Given the description of an element on the screen output the (x, y) to click on. 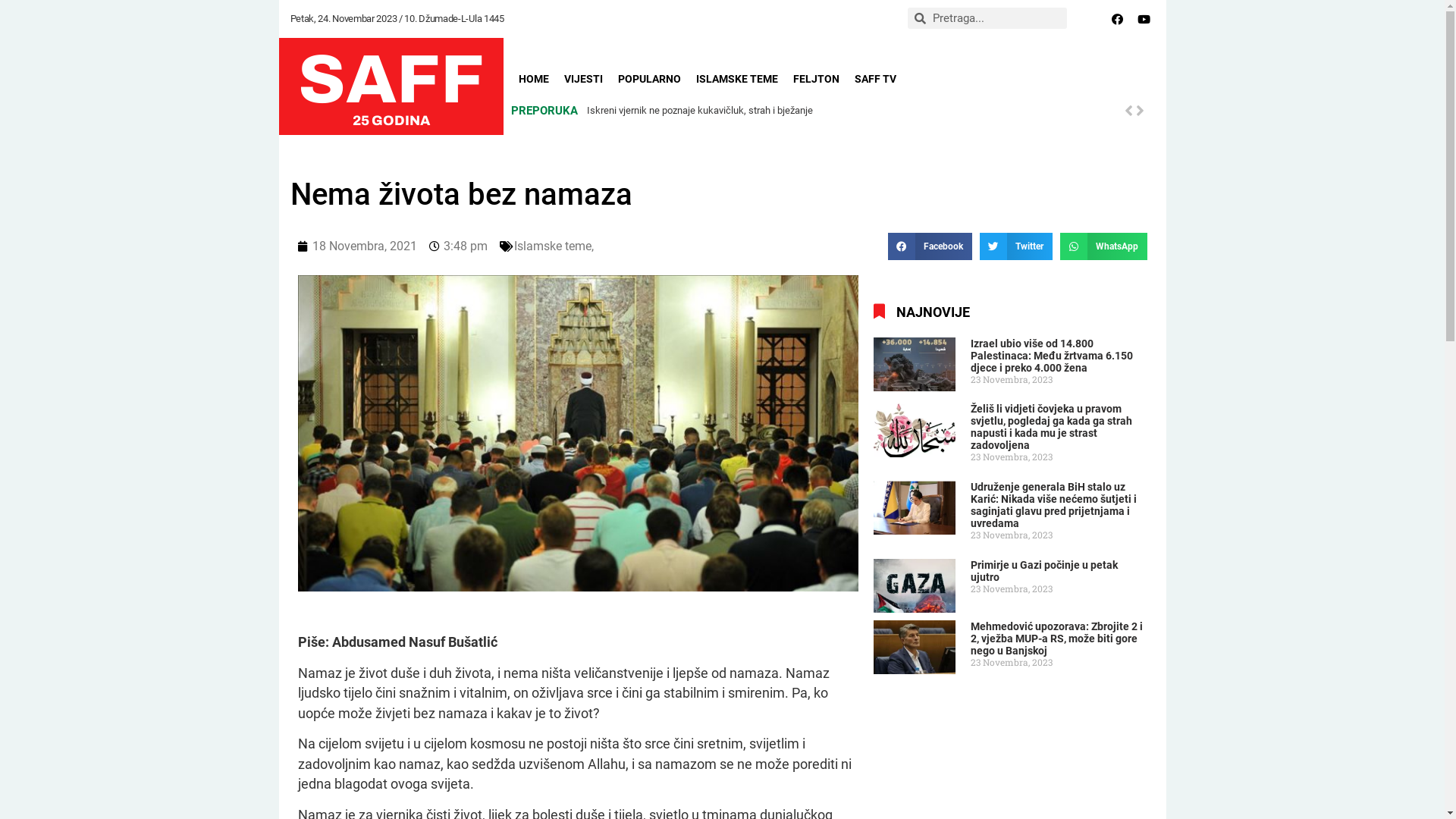
HOME Element type: text (533, 78)
SAFF Element type: text (391, 79)
18 Novembra, 2021 Element type: text (356, 246)
25 GODINA Element type: text (390, 120)
FELJTON Element type: text (816, 78)
ISLAMSKE TEME Element type: text (736, 78)
VIJESTI Element type: text (583, 78)
Islamske teme Element type: text (552, 245)
POPULARNO Element type: text (649, 78)
SAFF TV Element type: text (875, 78)
